Given the description of an element on the screen output the (x, y) to click on. 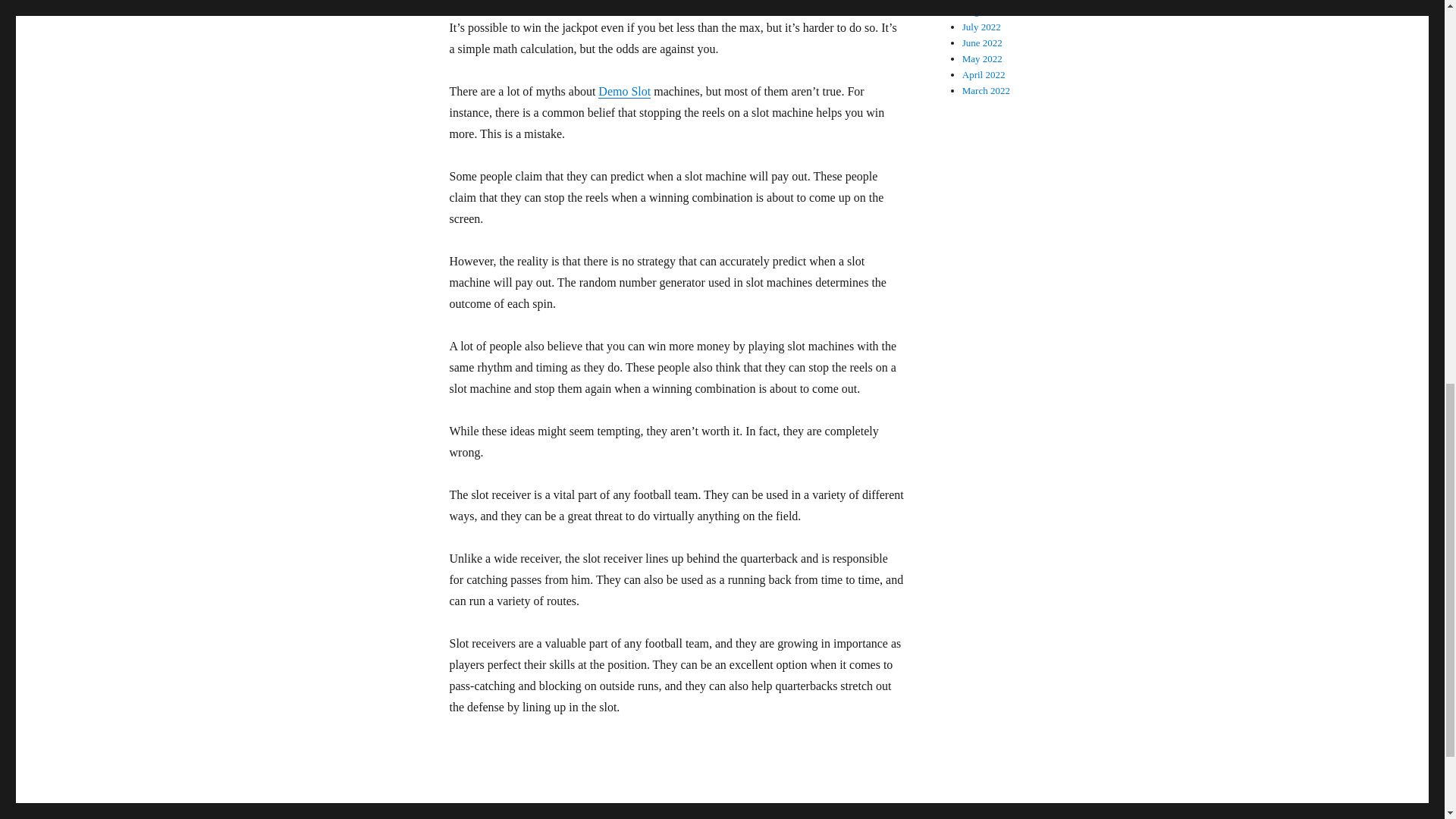
Demo Slot (624, 91)
